Given the description of an element on the screen output the (x, y) to click on. 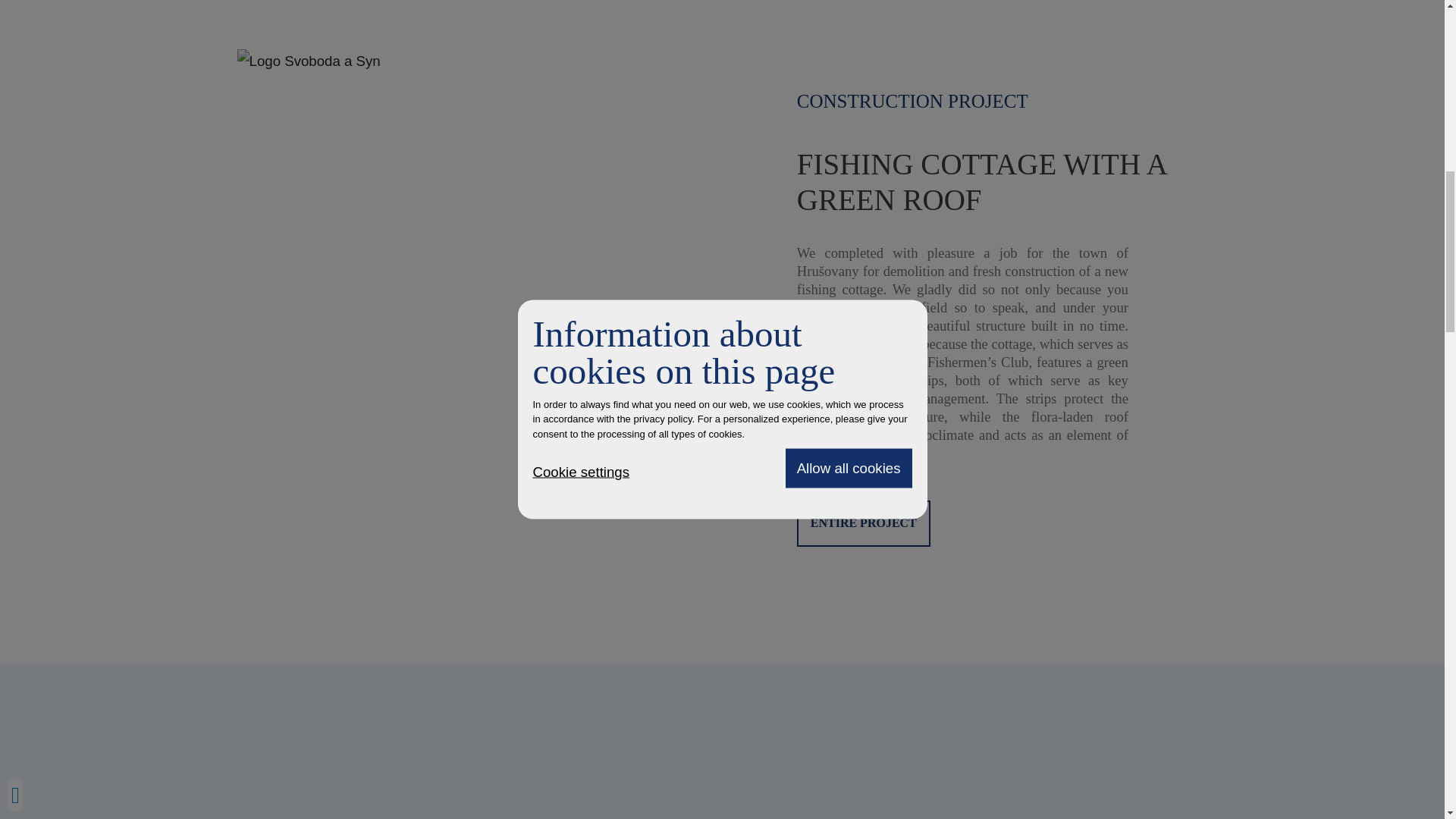
ENTIRE PROJECT (863, 523)
